Given the description of an element on the screen output the (x, y) to click on. 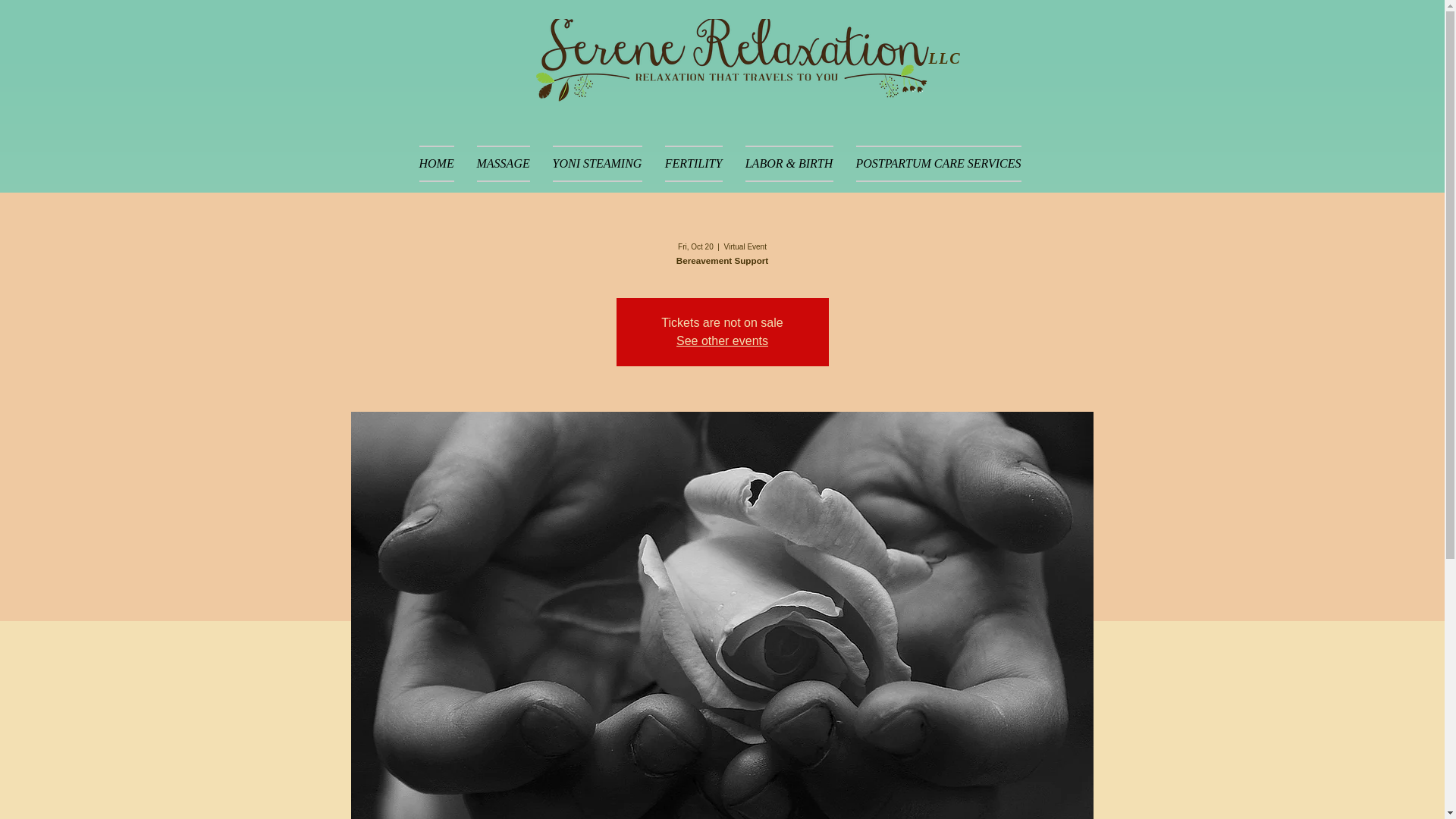
HOME (436, 163)
FERTILITY (693, 163)
YONI STEAMING (597, 163)
See other events (722, 340)
Serene-Relaxation-Logo-B.png (731, 68)
POSTPARTUM CARE SERVICES (938, 163)
MASSAGE (503, 163)
